Given the description of an element on the screen output the (x, y) to click on. 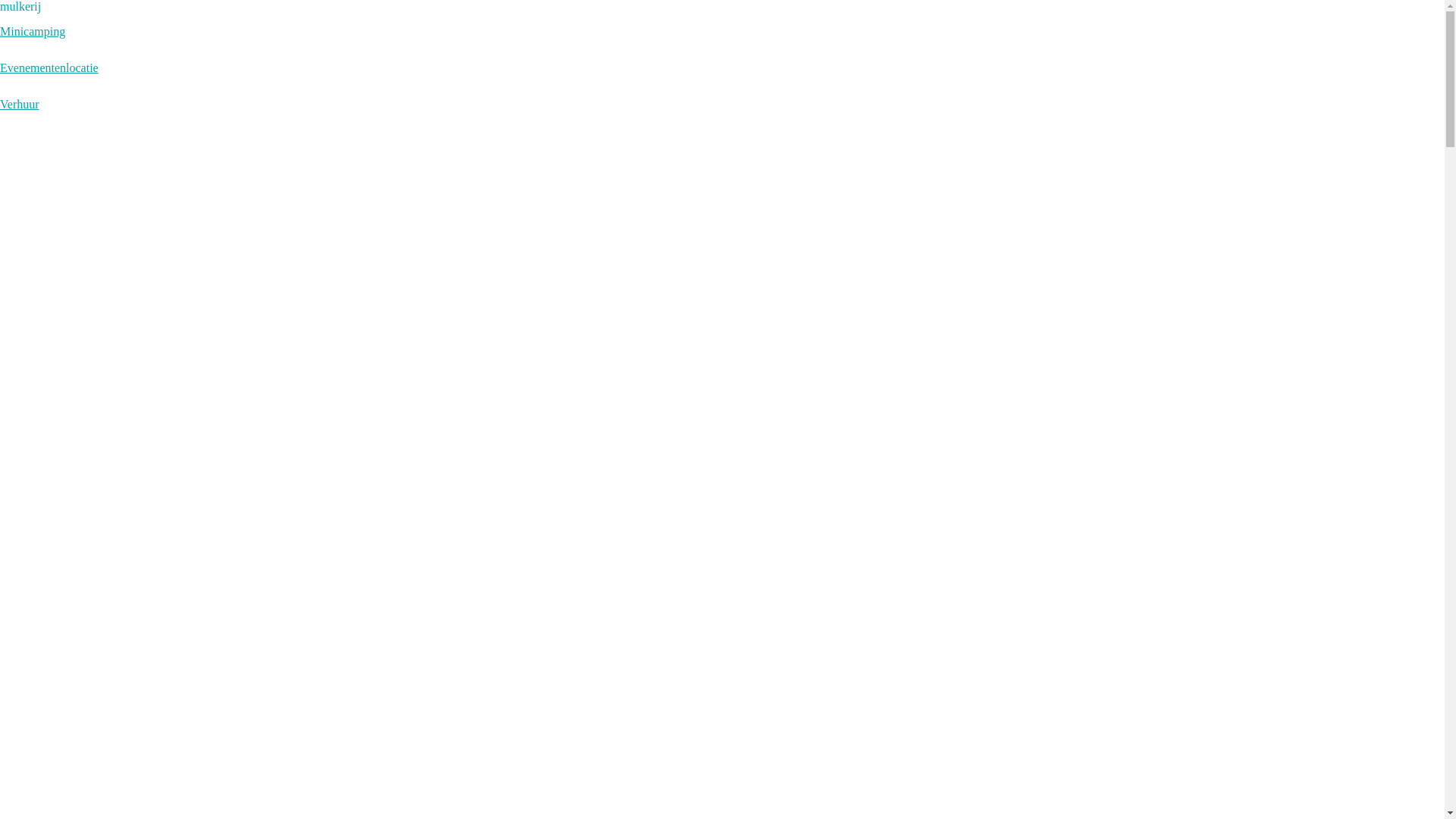
Verhuur Element type: text (19, 103)
Minicamping Element type: text (32, 31)
Evenementenlocatie Element type: text (49, 67)
